Given the description of an element on the screen output the (x, y) to click on. 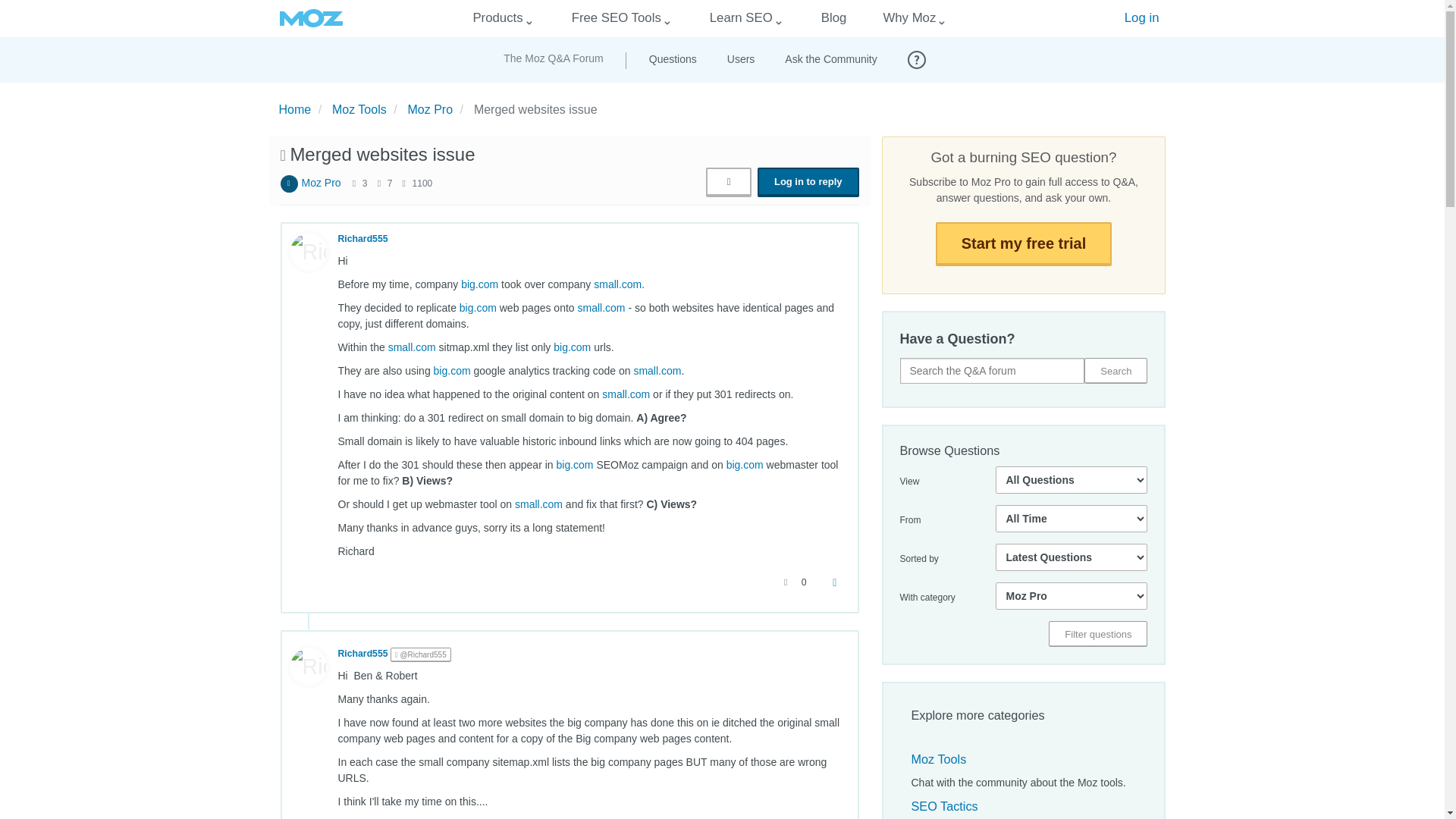
Moz logo (311, 18)
Filter questions (1097, 633)
Moz Home (311, 18)
Moz logo (311, 18)
Search (1115, 370)
Products (496, 18)
